Given the description of an element on the screen output the (x, y) to click on. 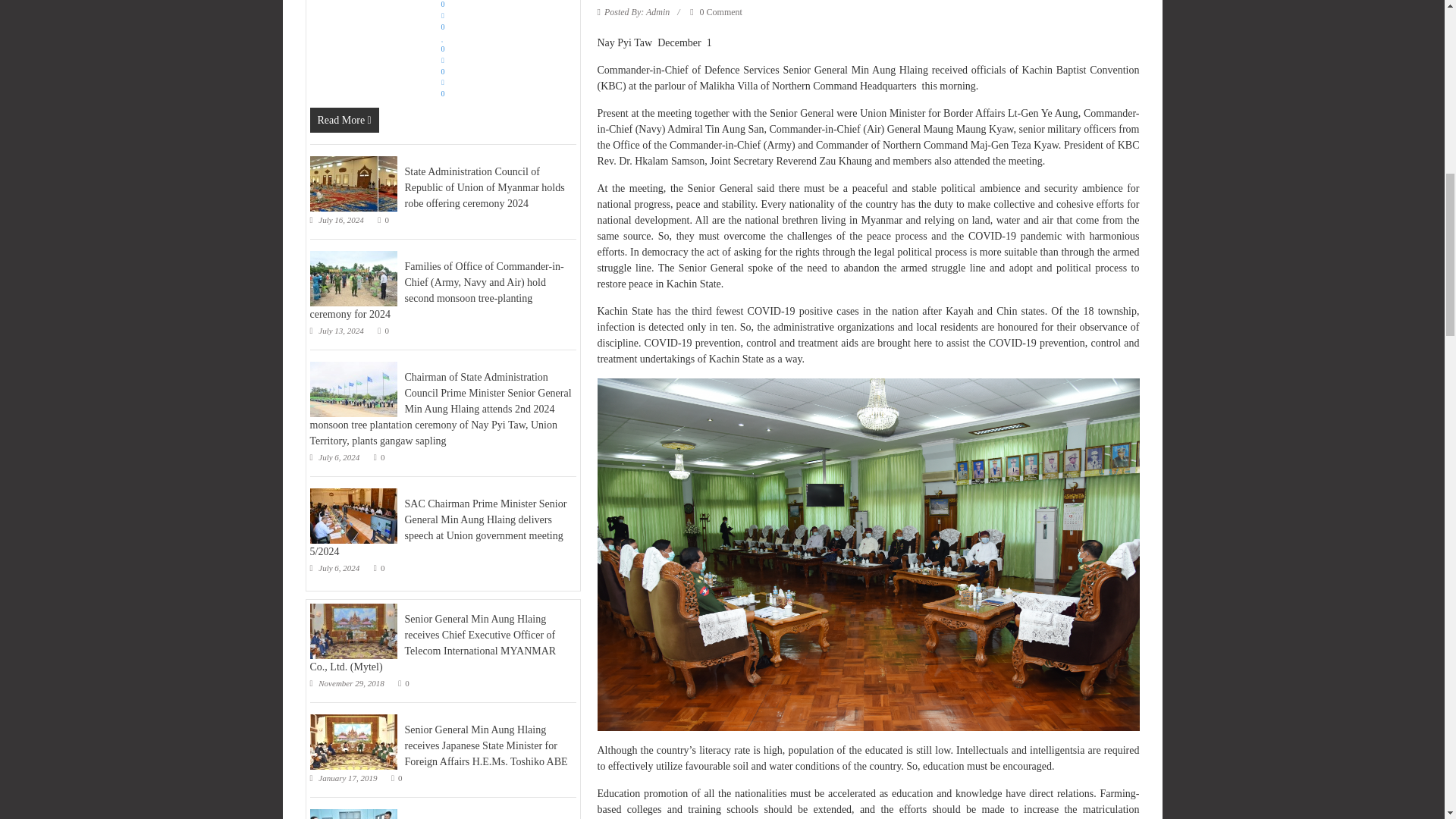
Admin (636, 11)
0 Comment (716, 11)
Posted By: Admin (636, 11)
